Given the description of an element on the screen output the (x, y) to click on. 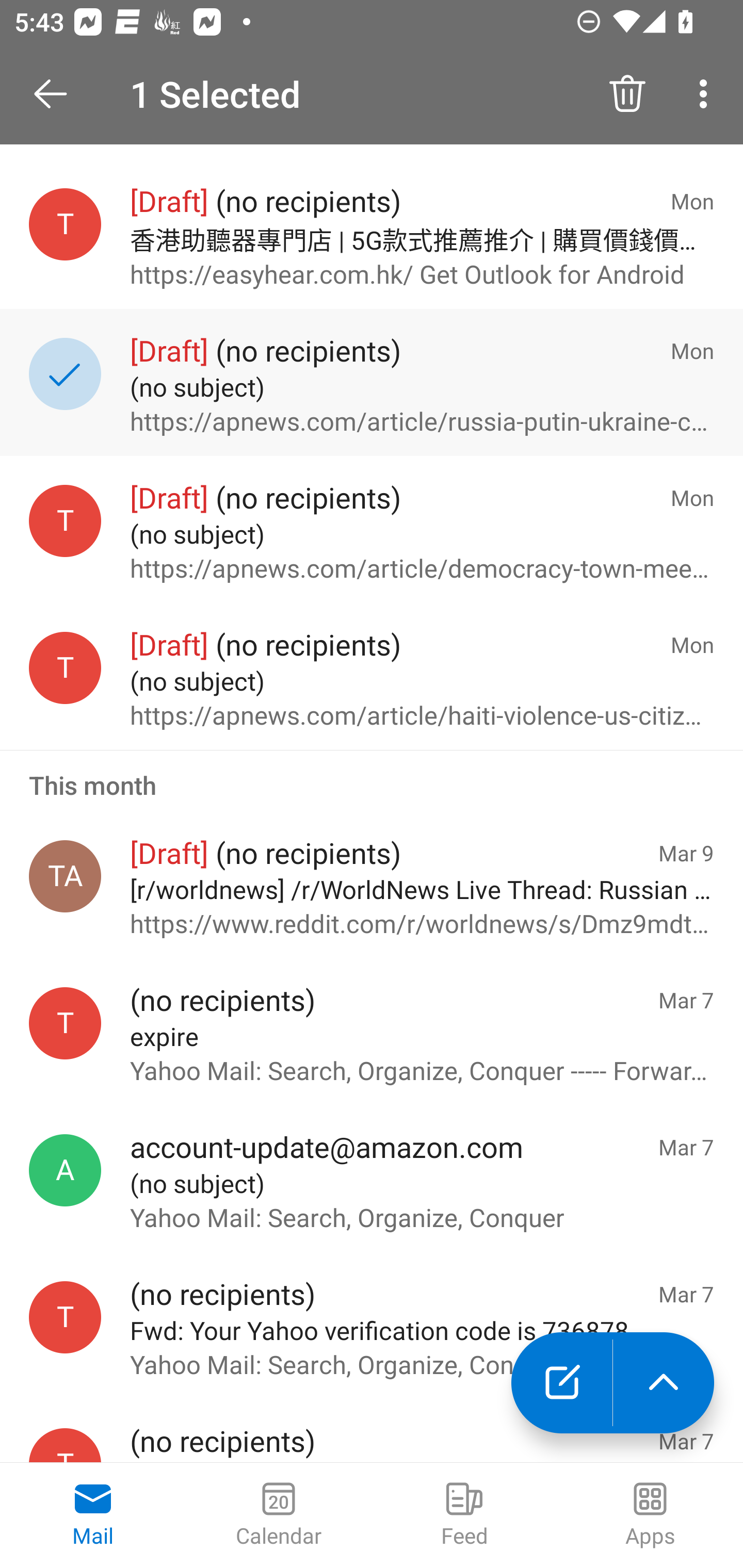
Delete (626, 93)
More options (706, 93)
Open Navigation Drawer (57, 94)
testappium002@outlook.com (64, 224)
testappium002@outlook.com (64, 520)
testappium002@outlook.com (64, 667)
Test Appium, testappium002@outlook.com (64, 876)
testappium002@outlook.com (64, 1023)
testappium002@outlook.com (64, 1317)
New mail (561, 1382)
launch the extended action menu (663, 1382)
Calendar (278, 1515)
Feed (464, 1515)
Apps (650, 1515)
